Given the description of an element on the screen output the (x, y) to click on. 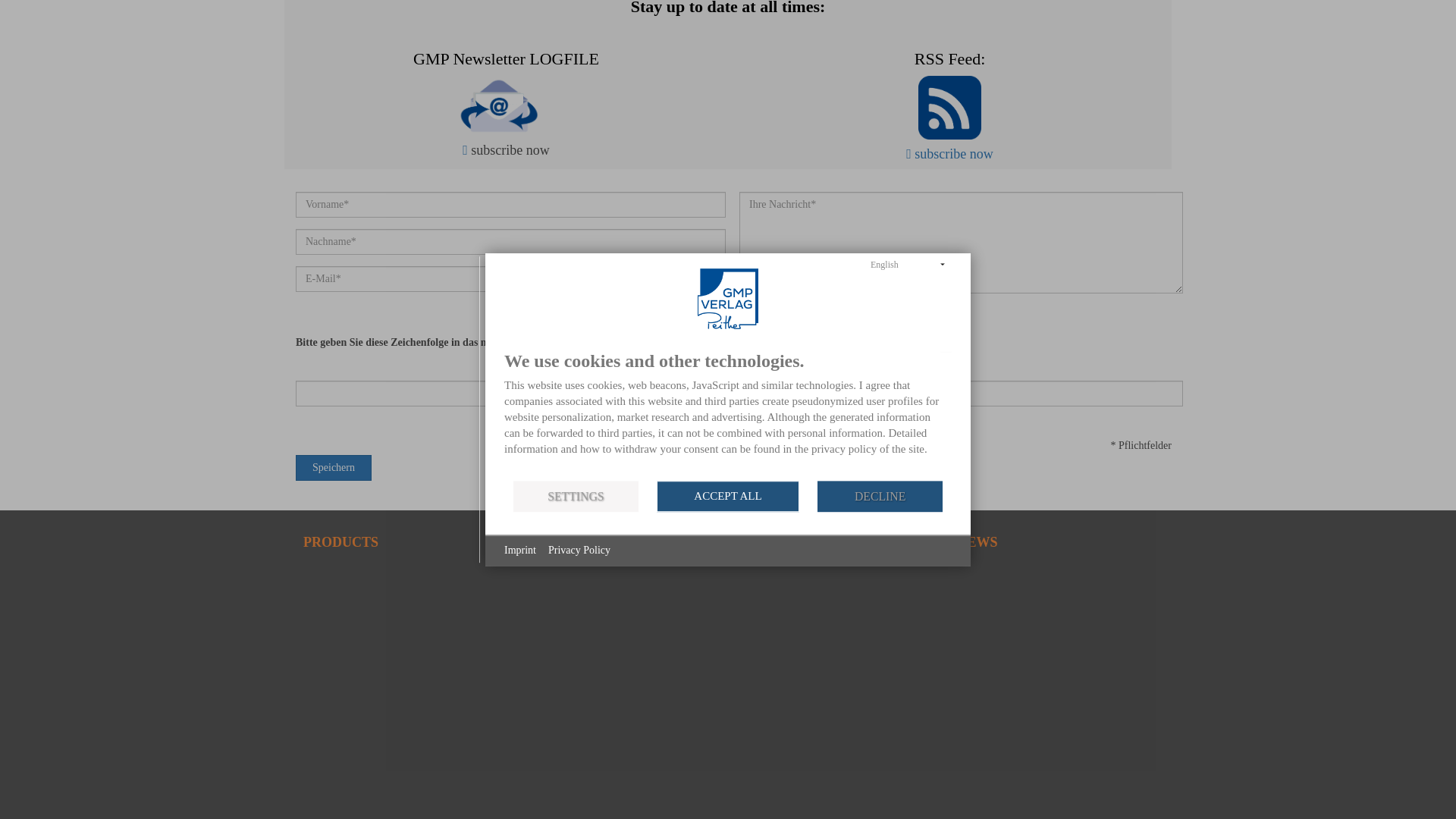
captcha (705, 342)
